Given the description of an element on the screen output the (x, y) to click on. 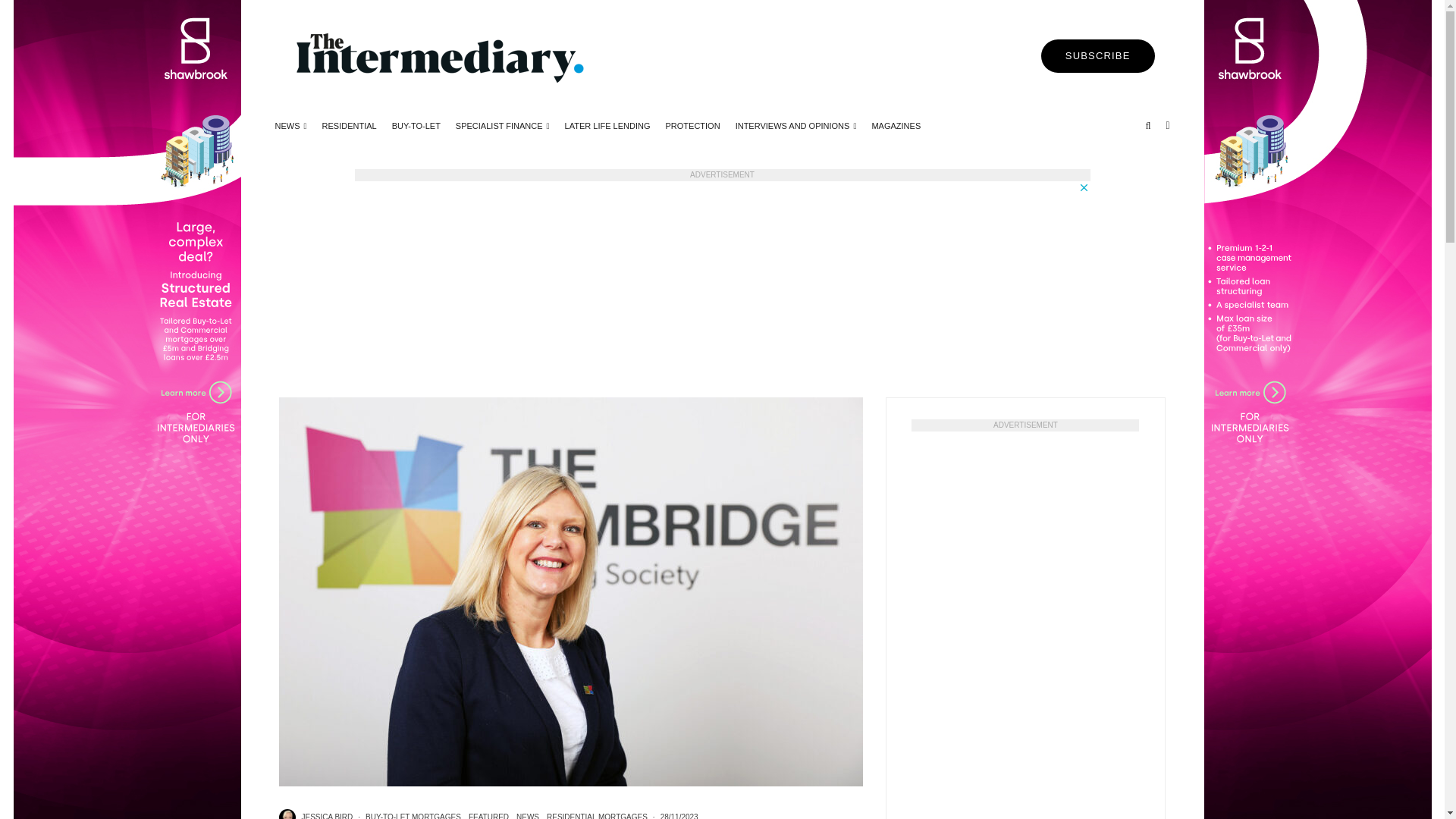
NEWS (290, 125)
SUBSCRIBE (1097, 55)
RESIDENTIAL (349, 125)
